Given the description of an element on the screen output the (x, y) to click on. 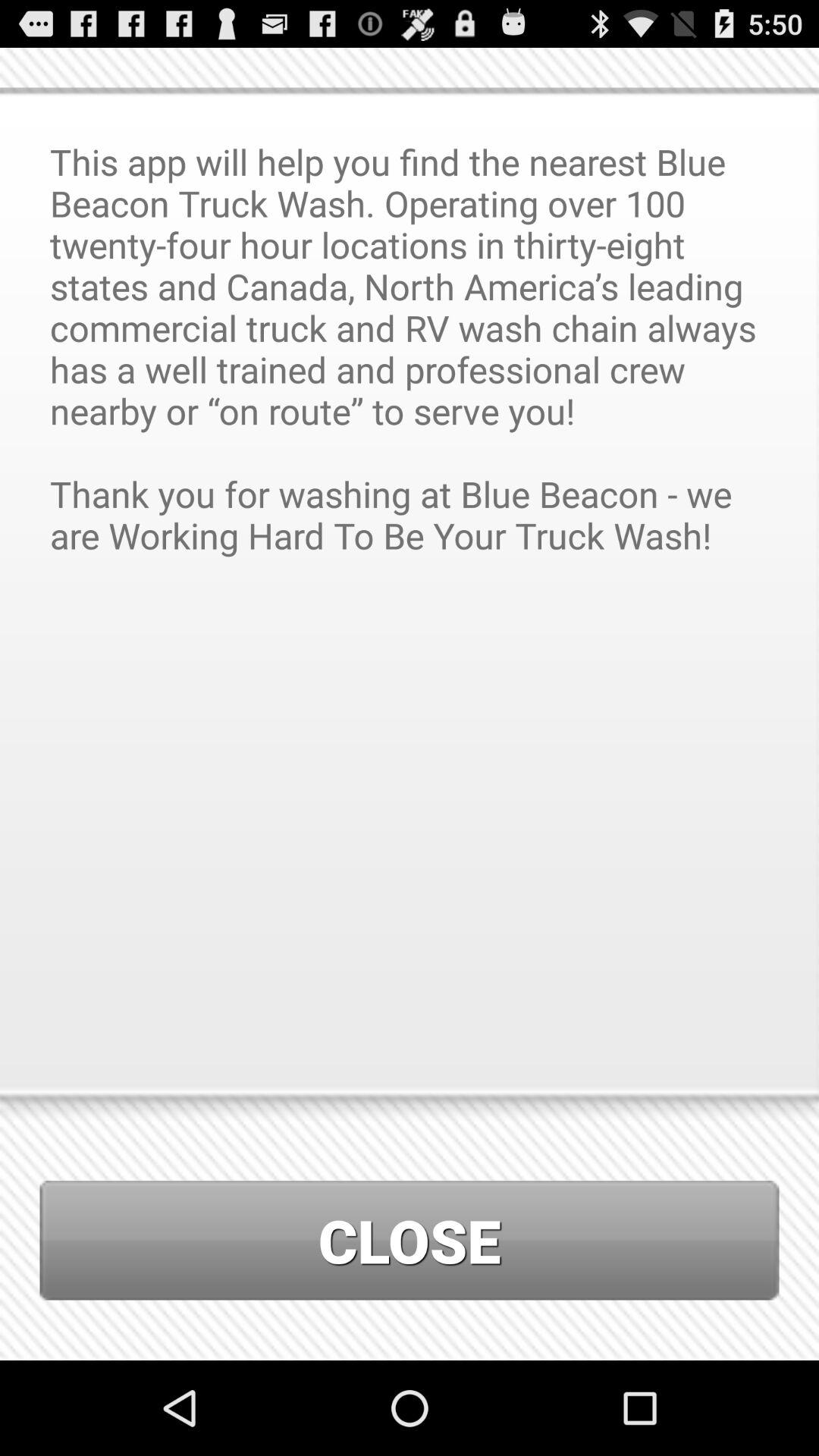
select the item below this app will icon (409, 1240)
